Given the description of an element on the screen output the (x, y) to click on. 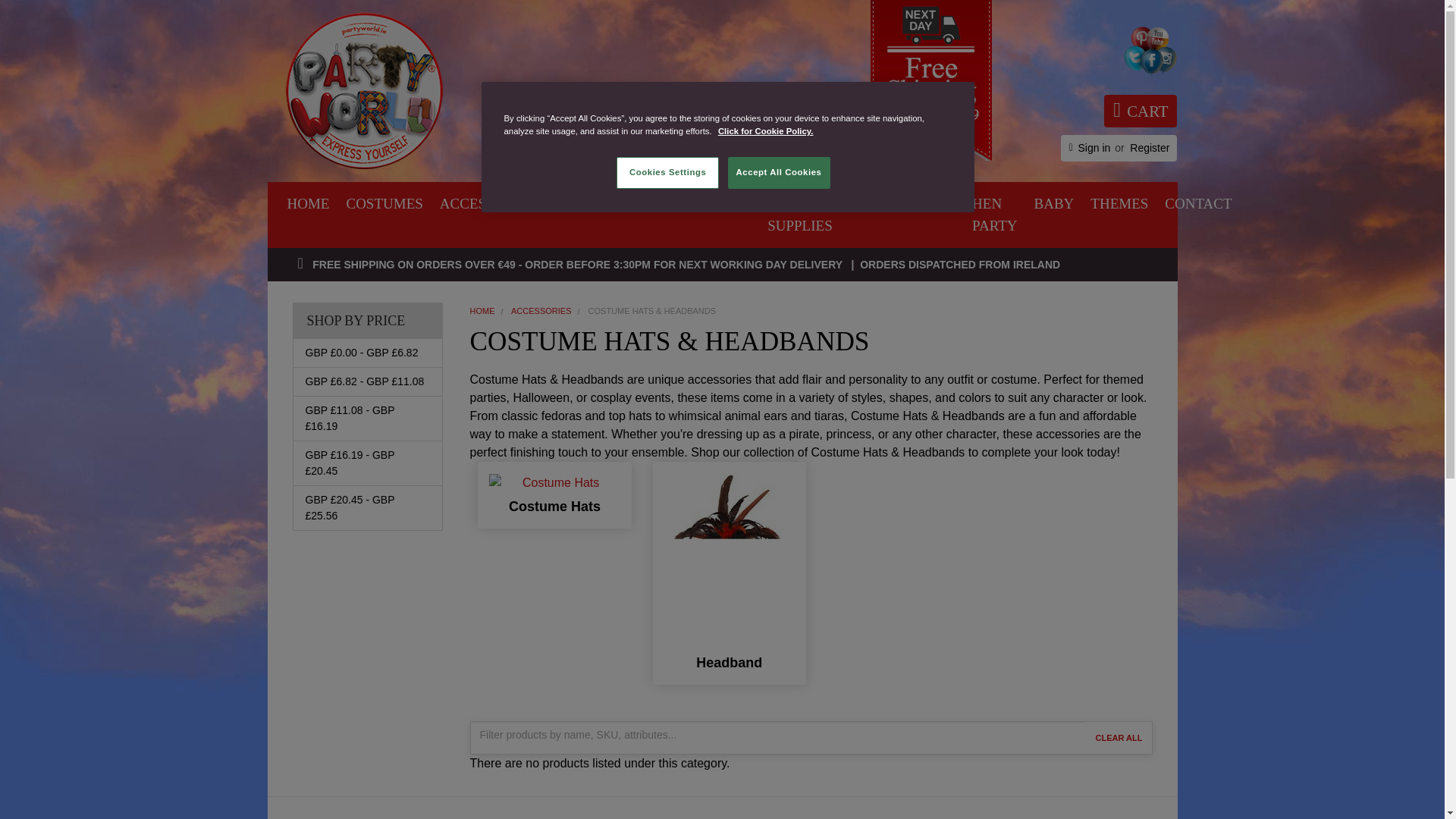
COSTUMES (383, 203)
PartyWorld (363, 90)
Search (660, 139)
Sign in (1093, 148)
Customer reviews powered by Trustpilot (619, 104)
CART (755, 139)
Costume Hats (1139, 111)
HOME (554, 483)
Cart (308, 203)
